Given the description of an element on the screen output the (x, y) to click on. 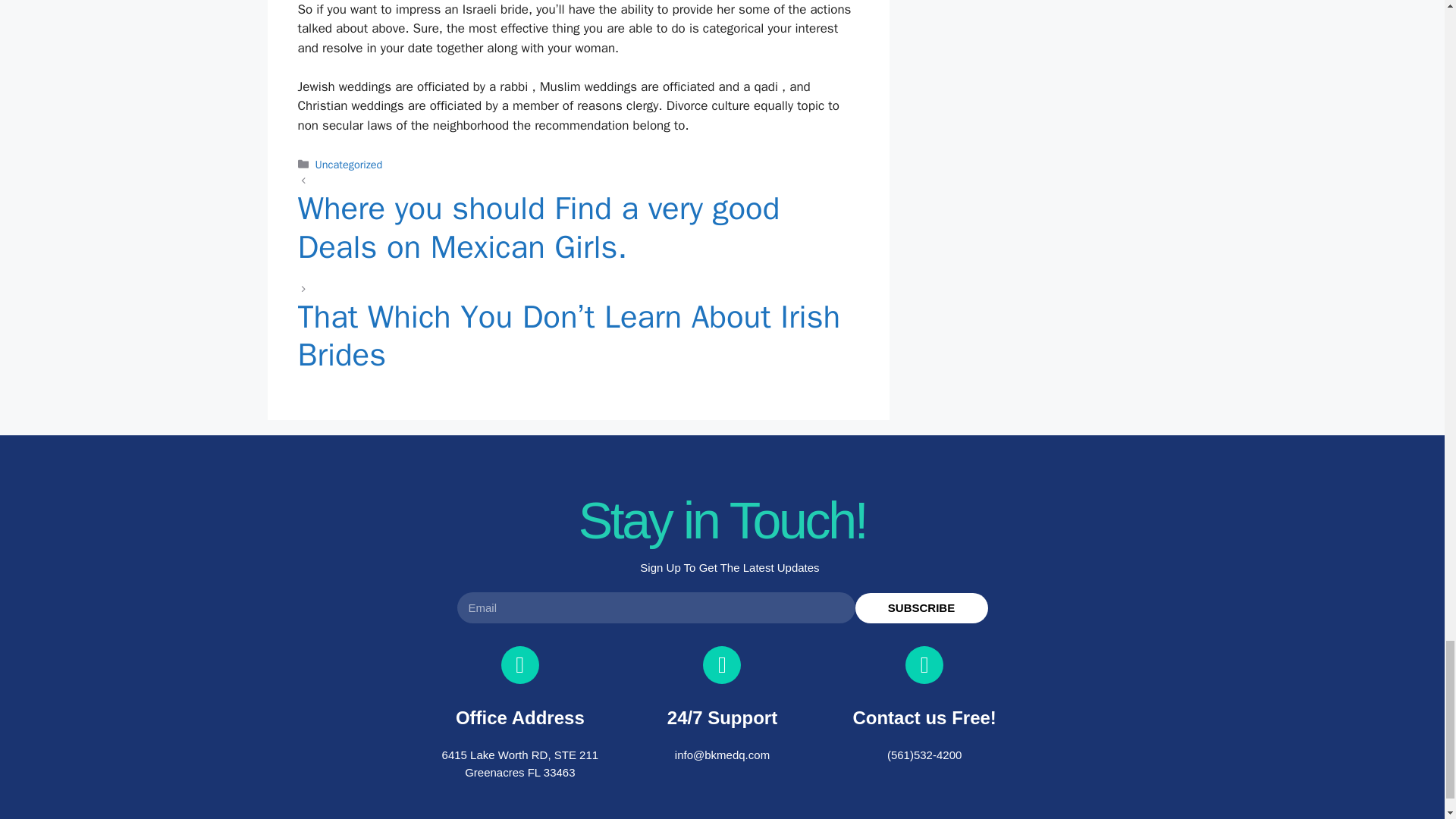
SUBSCRIBE (922, 607)
Uncategorized (348, 164)
Where you should Find a very good Deals on Mexican Girls. (578, 235)
